Given the description of an element on the screen output the (x, y) to click on. 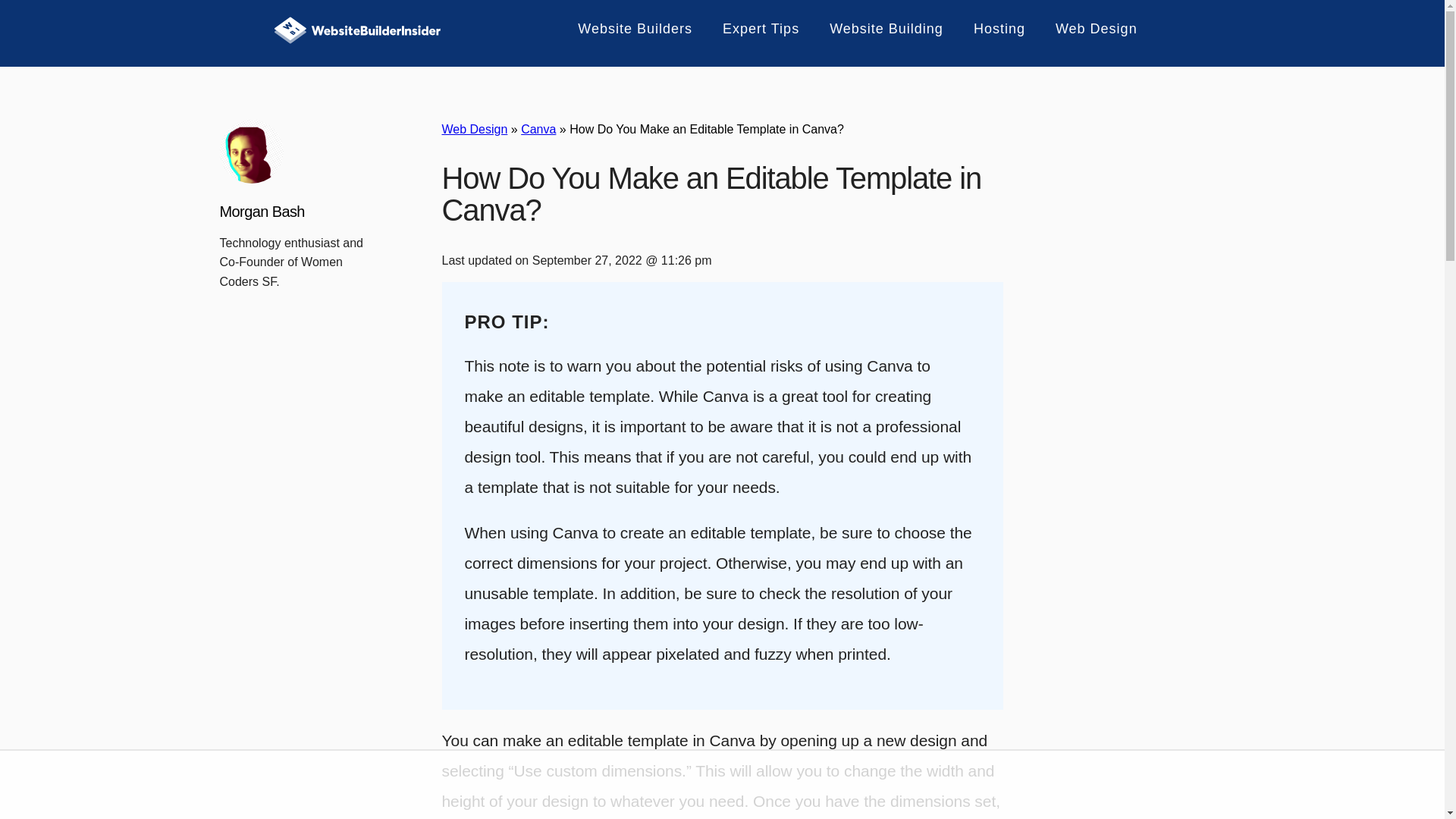
Hosting (989, 28)
Website Building (877, 28)
Expert Tips (751, 28)
Website Builders (625, 28)
Web Design (1086, 28)
Canva (538, 128)
Web Design (473, 128)
